Given the description of an element on the screen output the (x, y) to click on. 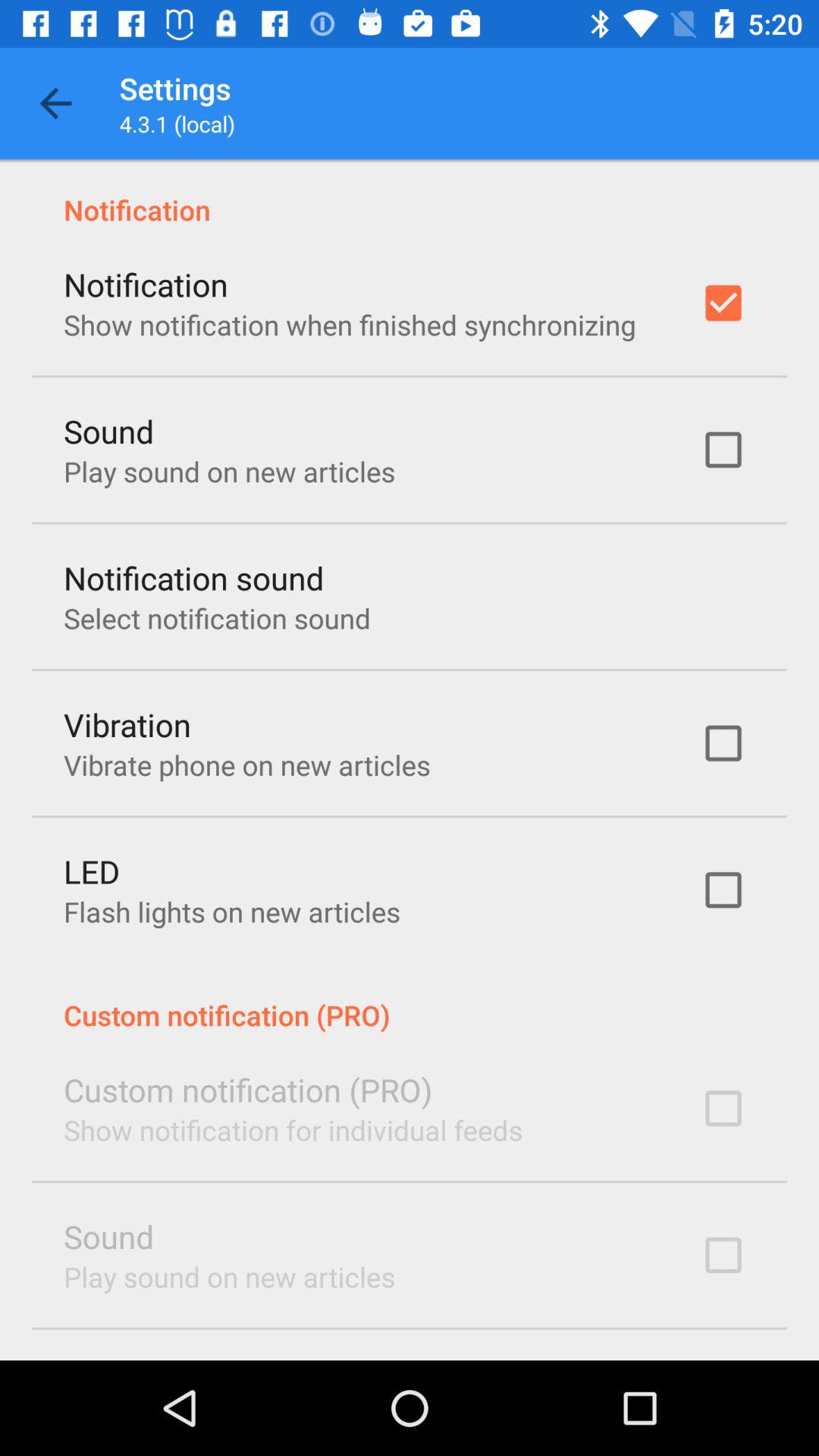
select the led icon (91, 870)
